Given the description of an element on the screen output the (x, y) to click on. 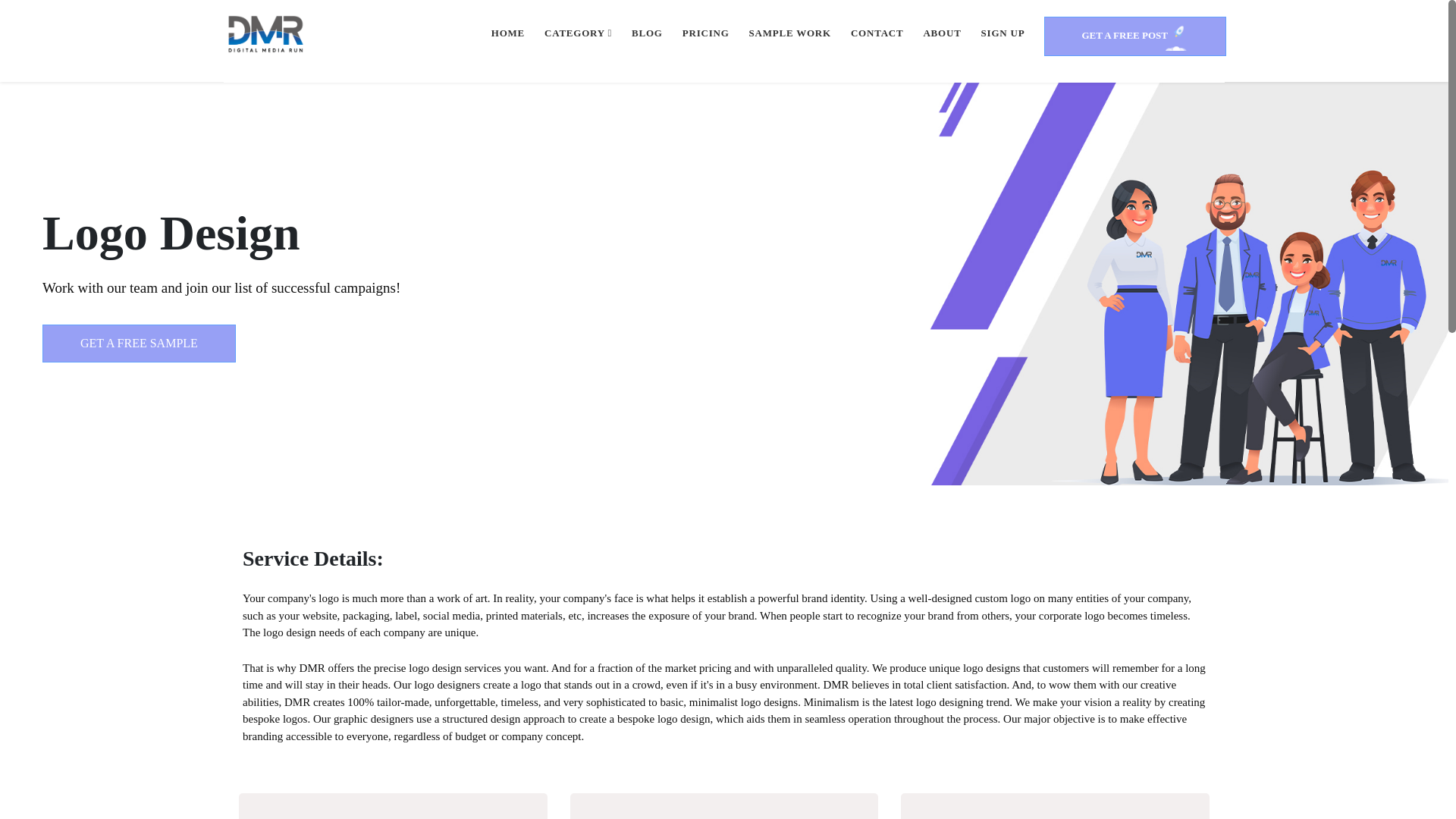
GET A FREE POST (1134, 40)
GET A FREE POST (1134, 35)
GET A FREE SAMPLE (138, 343)
CONTACT (877, 33)
PRICING (705, 33)
CATEGORY (577, 33)
SAMPLE WORK (790, 33)
SIGN UP (1003, 33)
